Given the description of an element on the screen output the (x, y) to click on. 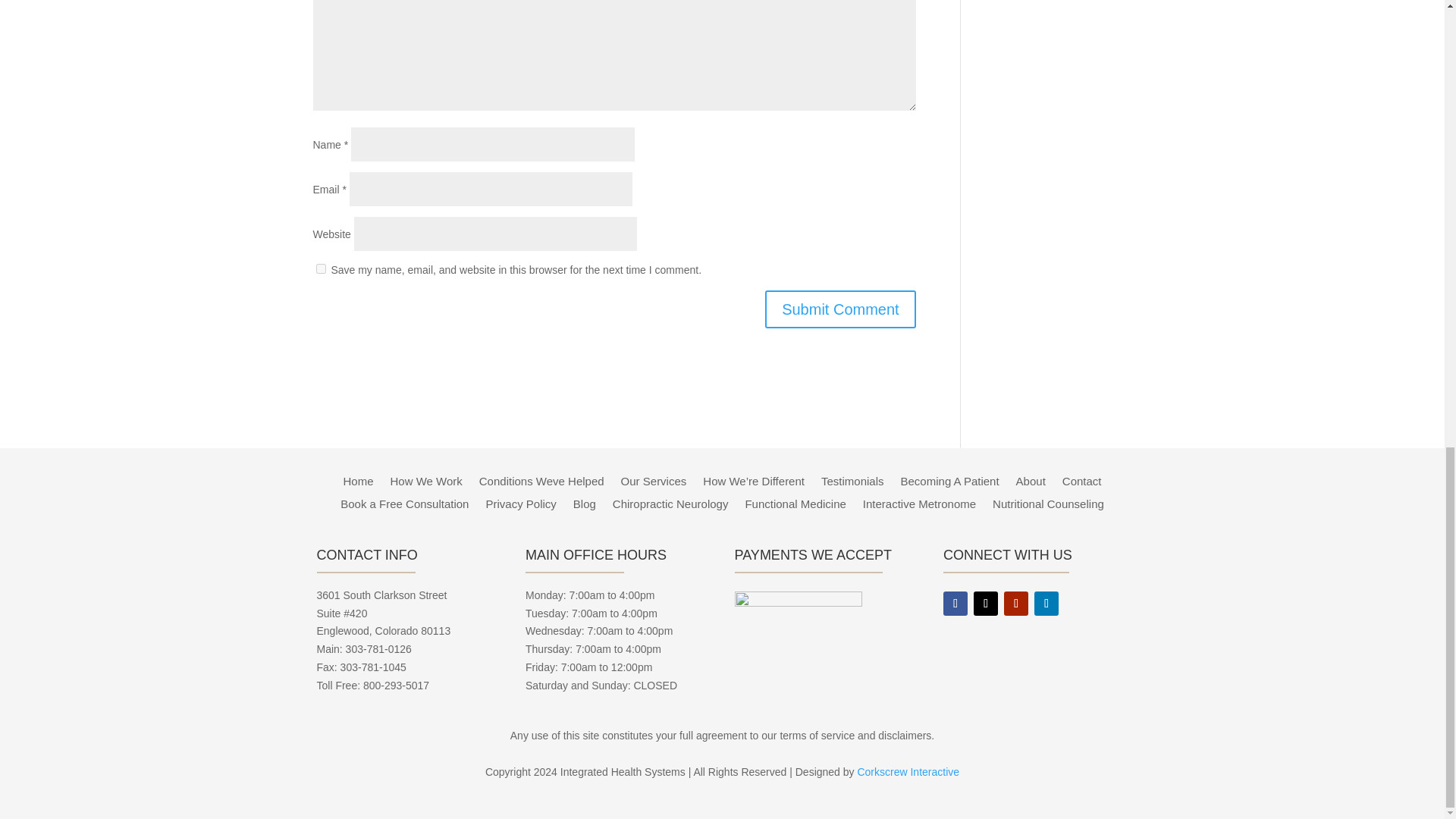
Follow on X (985, 603)
yes (319, 268)
Submit Comment (840, 309)
Follow on Facebook (955, 603)
Follow on LinkedIn (1045, 603)
Follow on Youtube (1015, 603)
